Given the description of an element on the screen output the (x, y) to click on. 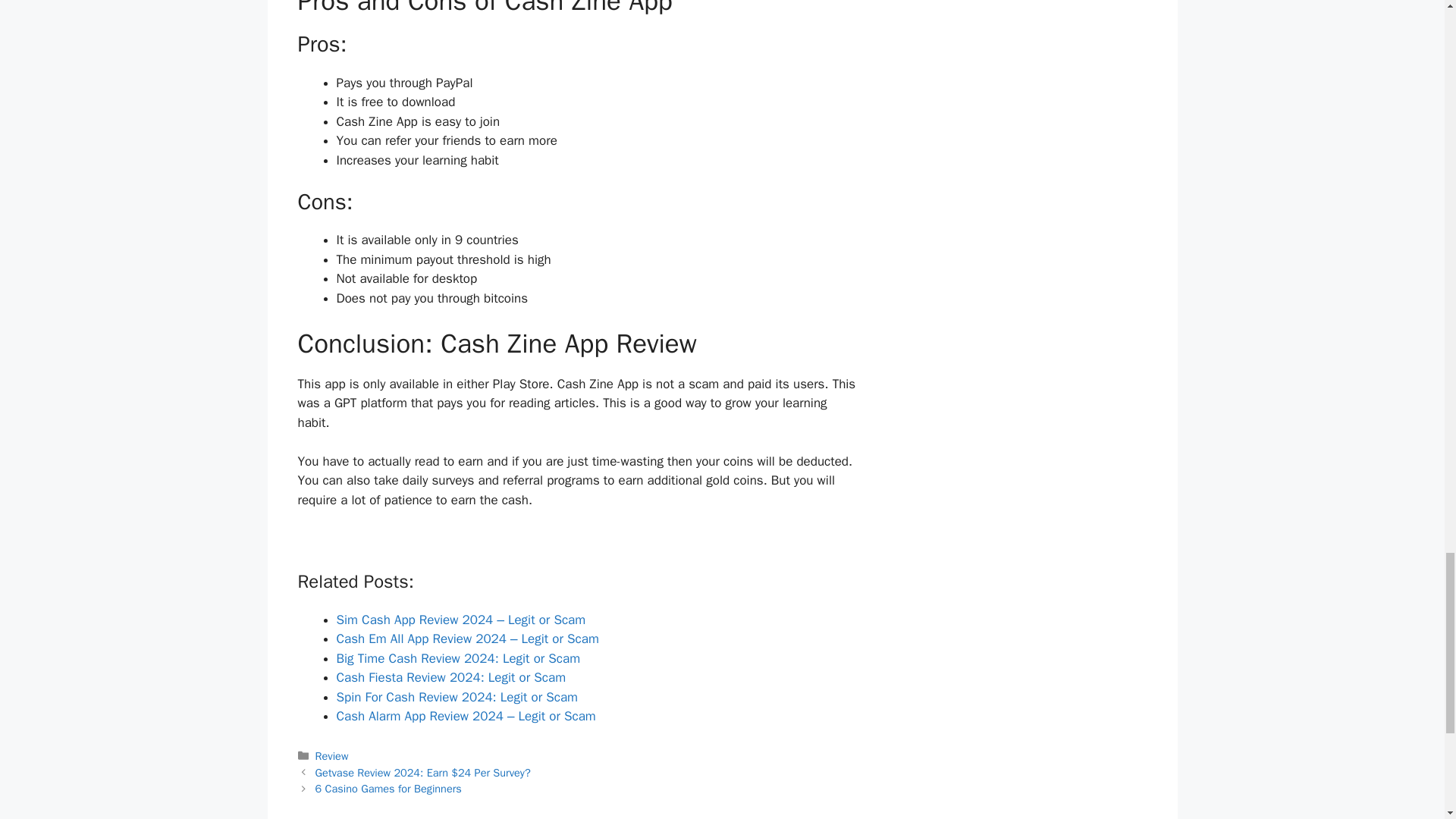
Big Time Cash Review 2024: Legit or Scam (458, 658)
Cash Fiesta Review 2024: Legit or Scam (451, 677)
